Given the description of an element on the screen output the (x, y) to click on. 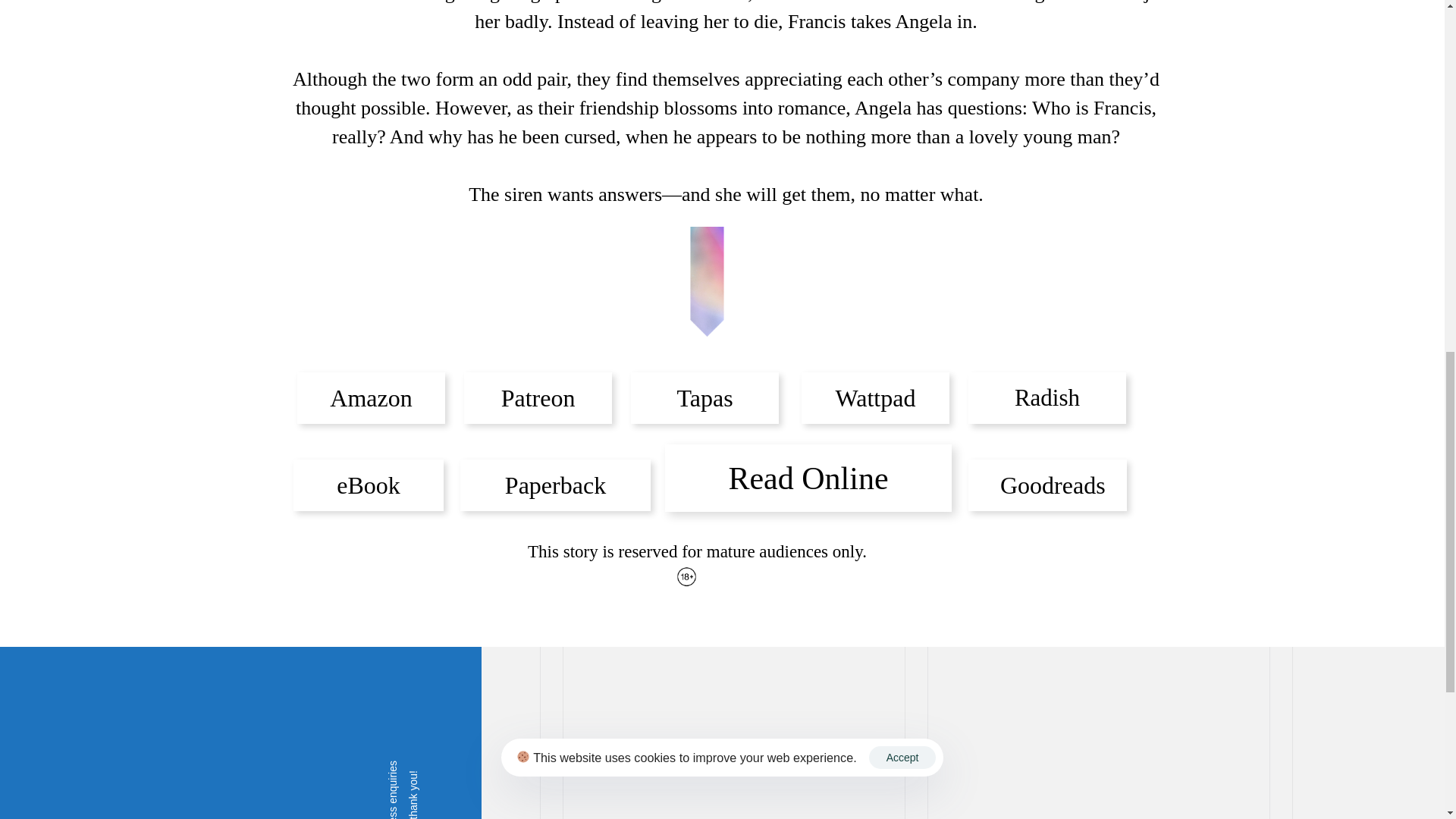
Goodreads (1047, 485)
eBook (369, 485)
Read Online (808, 477)
Amazon (371, 398)
Tapas (704, 398)
Paperback (555, 485)
Radish (1046, 398)
Wattpad (875, 398)
Patreon (537, 398)
